Given the description of an element on the screen output the (x, y) to click on. 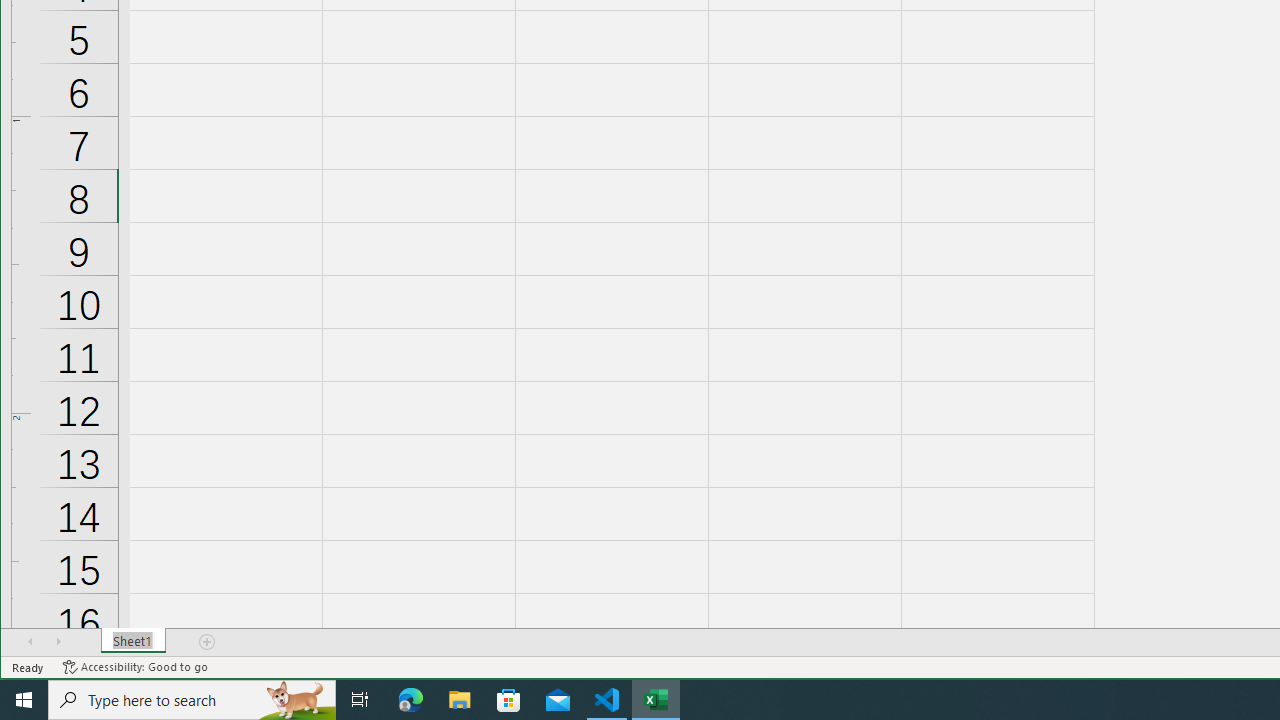
Visual Studio Code - 1 running window (607, 699)
